Given the description of an element on the screen output the (x, y) to click on. 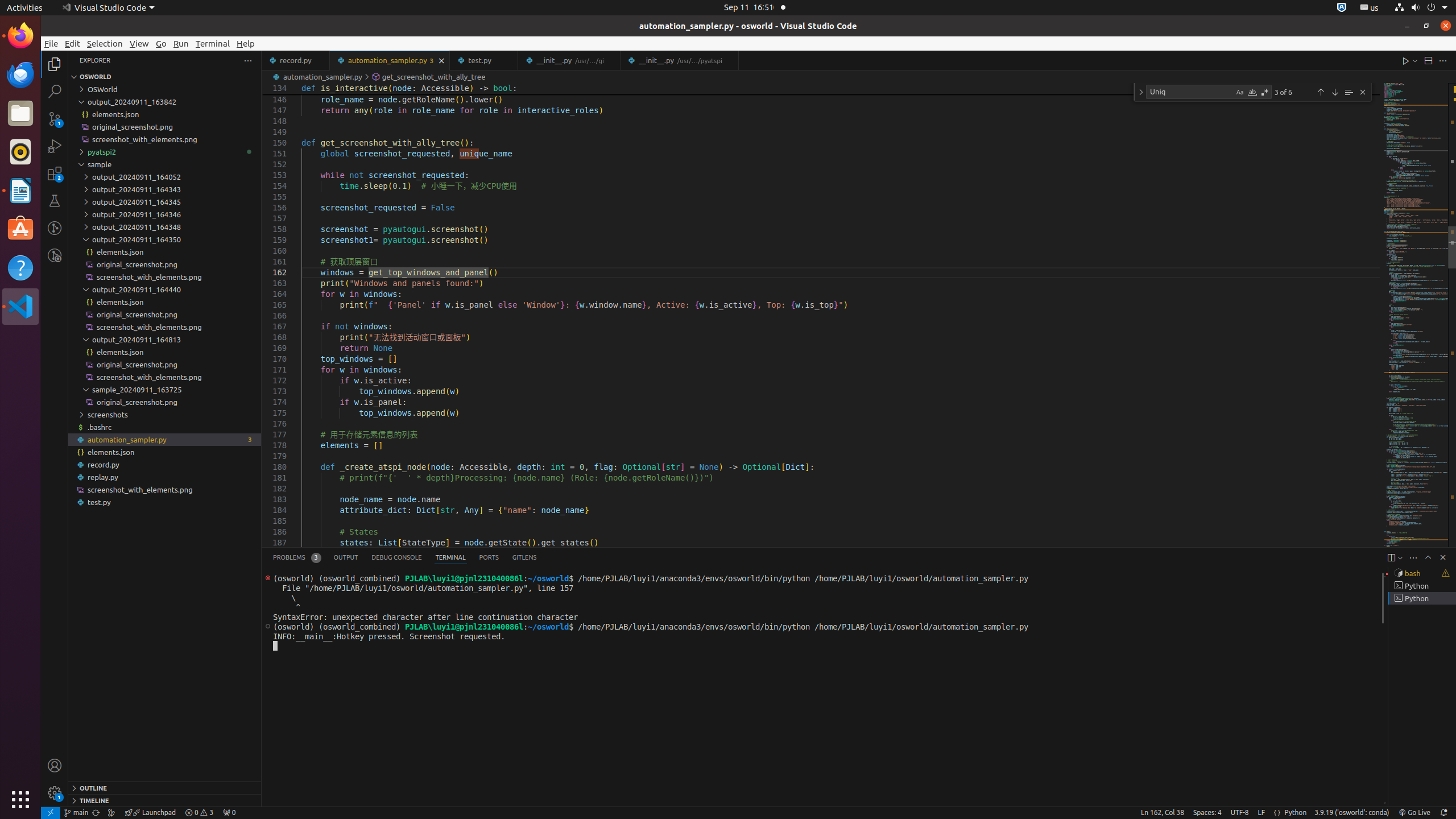
Use Regular Expression (Alt+R) Element type: check-box (1264, 91)
No Ports Forwarded Element type: push-button (228, 812)
Outline Section Element type: push-button (164, 787)
Debug Console (Ctrl+Shift+Y) Element type: page-tab (396, 557)
